Given the description of an element on the screen output the (x, y) to click on. 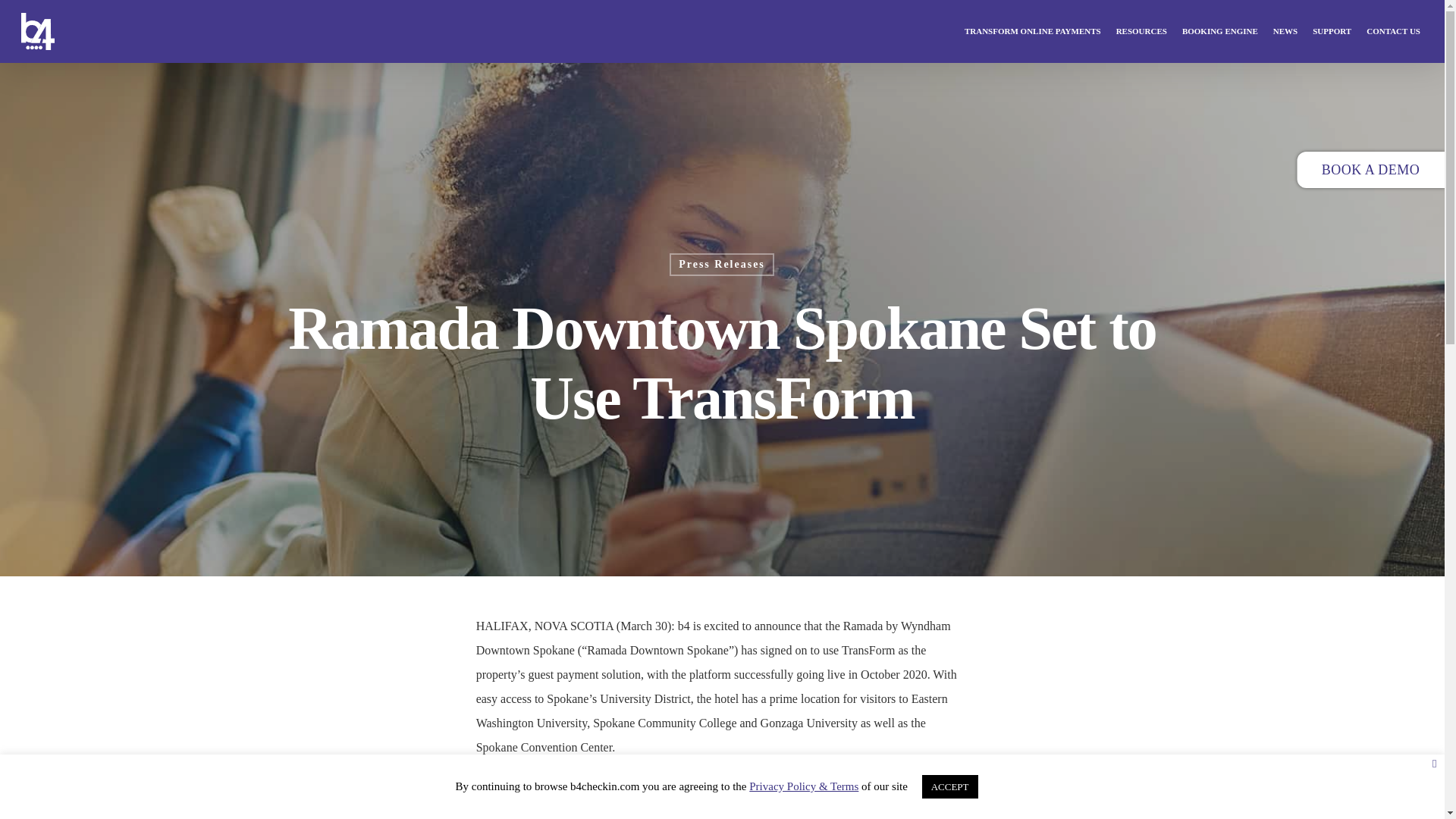
SUPPORT (1331, 31)
NEWS (1284, 31)
TRANSFORM ONLINE PAYMENTS (1032, 31)
CONTACT US (1393, 31)
Press Releases (721, 264)
BOOKING ENGINE (1219, 31)
RESOURCES (1141, 31)
